Given the description of an element on the screen output the (x, y) to click on. 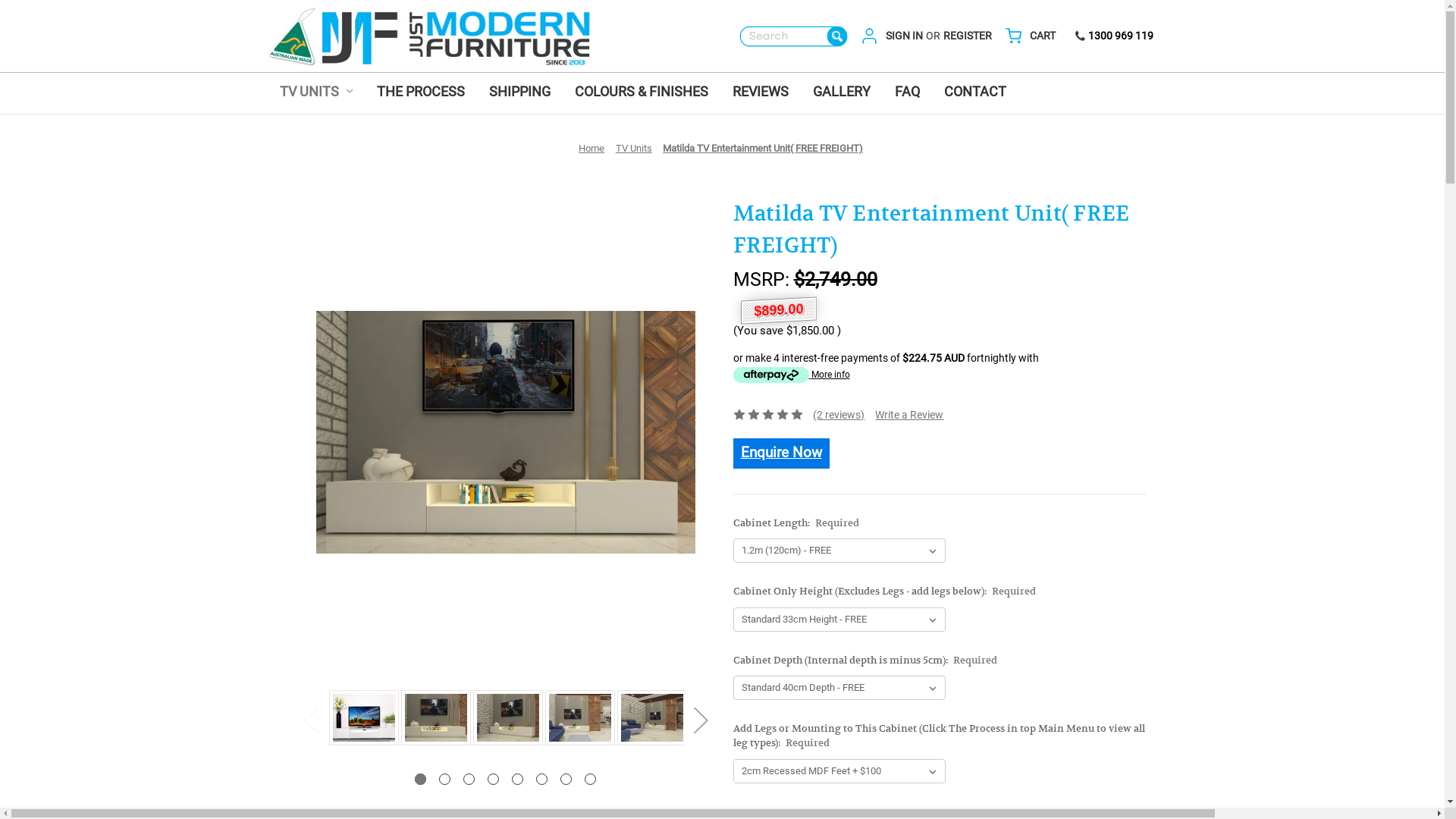
1300 969 119 Element type: text (1112, 35)
Enquire Now Element type: text (780, 453)
FAQ Element type: text (906, 92)
Next Element type: text (700, 719)
Write a Review Element type: text (909, 414)
SIGN IN Element type: text (904, 35)
REVIEWS Element type: text (760, 92)
Matilda TV Entertainment Unit( FREE FREIGHT) Element type: hover (435, 717)
COLOURS & FINISHES Element type: text (641, 92)
SEARCH Element type: text (793, 36)
Matilda TV Entertainment Unit( FREE FREIGHT) Element type: hover (651, 717)
SHIPPING Element type: text (519, 92)
Matilda TV Entertainment Unit( FREE FREIGHT) Element type: hover (507, 717)
CART Element type: text (1042, 35)
Enquire Now Element type: text (780, 452)
THE PROCESS Element type: text (420, 92)
GALLERY Element type: text (841, 92)
Matilda TV Entertainment Unit( FREE FREIGHT) Element type: hover (579, 717)
TV UNITS Element type: text (315, 92)
Previous Element type: text (310, 719)
Matilda TV Entertainment Unit( FREE FREIGHT) Element type: hover (504, 431)
JUST MODERN FURNITURE Element type: hover (427, 36)
More info Element type: text (790, 374)
Home Element type: text (591, 147)
TV Units Element type: text (633, 147)
REGISTER Element type: text (967, 35)
CONTACT Element type: text (974, 92)
(2 reviews) Element type: text (838, 414)
Write a Review Element type: text (909, 415)
Matilda TV Entertainment Unit( FREE FREIGHT) Element type: hover (363, 717)
Matilda TV Entertainment Unit( FREE FREIGHT) Element type: text (762, 147)
